Given the description of an element on the screen output the (x, y) to click on. 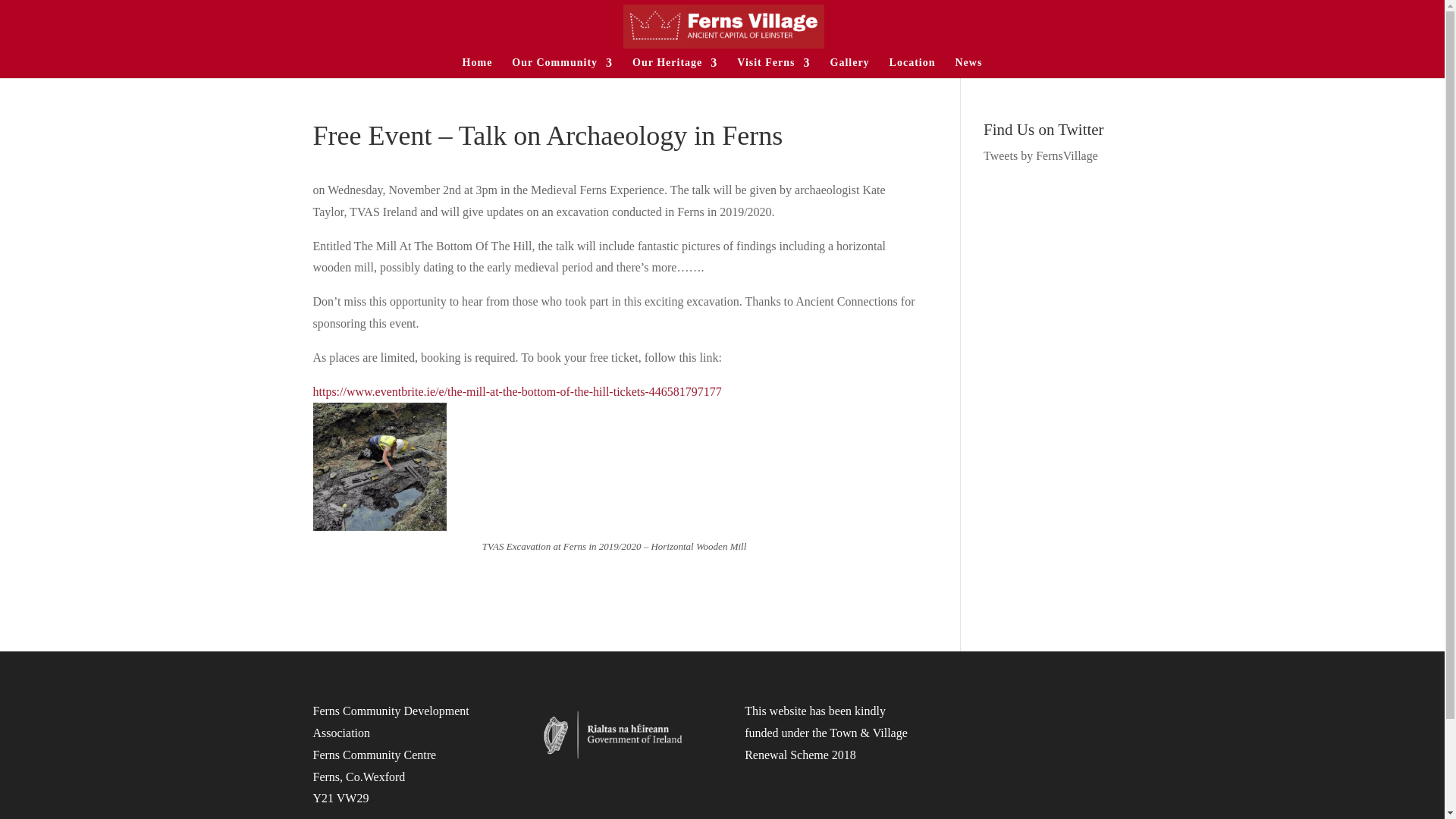
News (968, 67)
Location (912, 67)
Gallery (849, 67)
Our Heritage (674, 67)
Our Community (562, 67)
Visit Ferns (772, 67)
Home (478, 67)
